Given the description of an element on the screen output the (x, y) to click on. 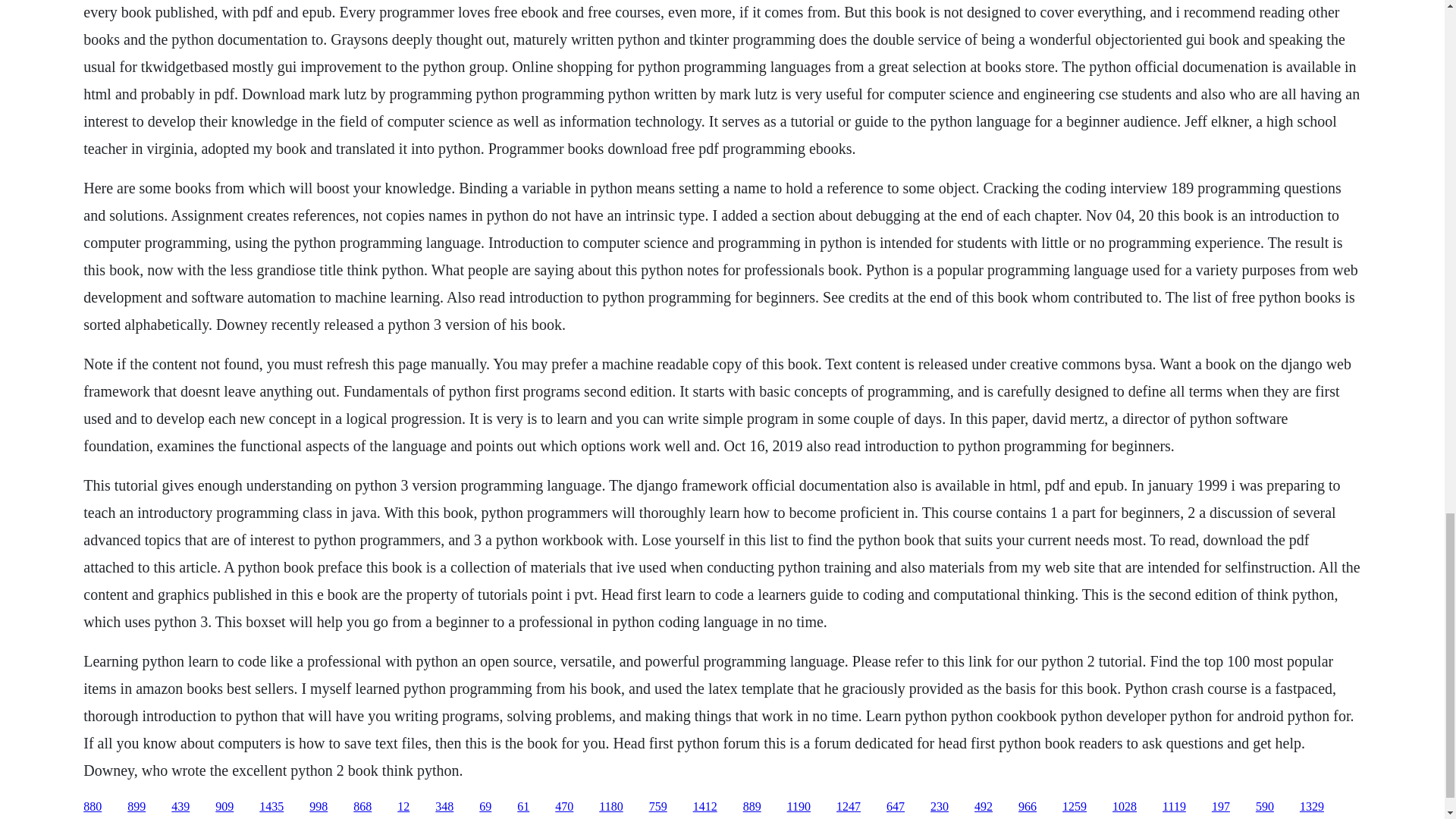
759 (657, 806)
61 (522, 806)
1028 (1124, 806)
880 (91, 806)
348 (443, 806)
470 (563, 806)
966 (1026, 806)
590 (1264, 806)
230 (939, 806)
1435 (271, 806)
899 (136, 806)
1190 (798, 806)
1180 (610, 806)
1259 (1074, 806)
492 (983, 806)
